Given the description of an element on the screen output the (x, y) to click on. 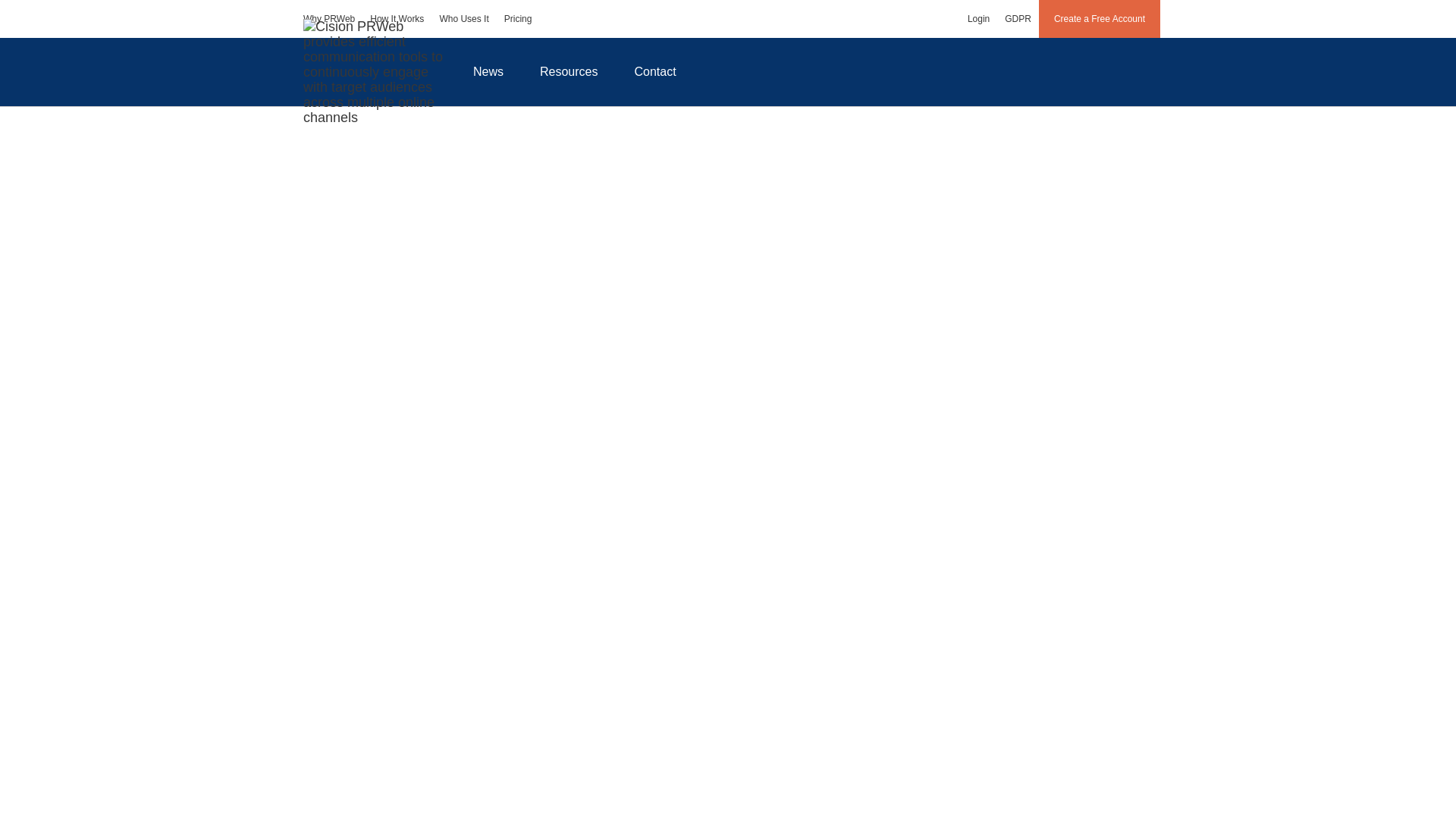
How It Works (396, 18)
News (487, 71)
Login (978, 18)
Who Uses It (463, 18)
GDPR (1018, 18)
Create a Free Account (1099, 18)
Contact (654, 71)
Why PRWeb (328, 18)
Resources (568, 71)
Pricing (518, 18)
